Given the description of an element on the screen output the (x, y) to click on. 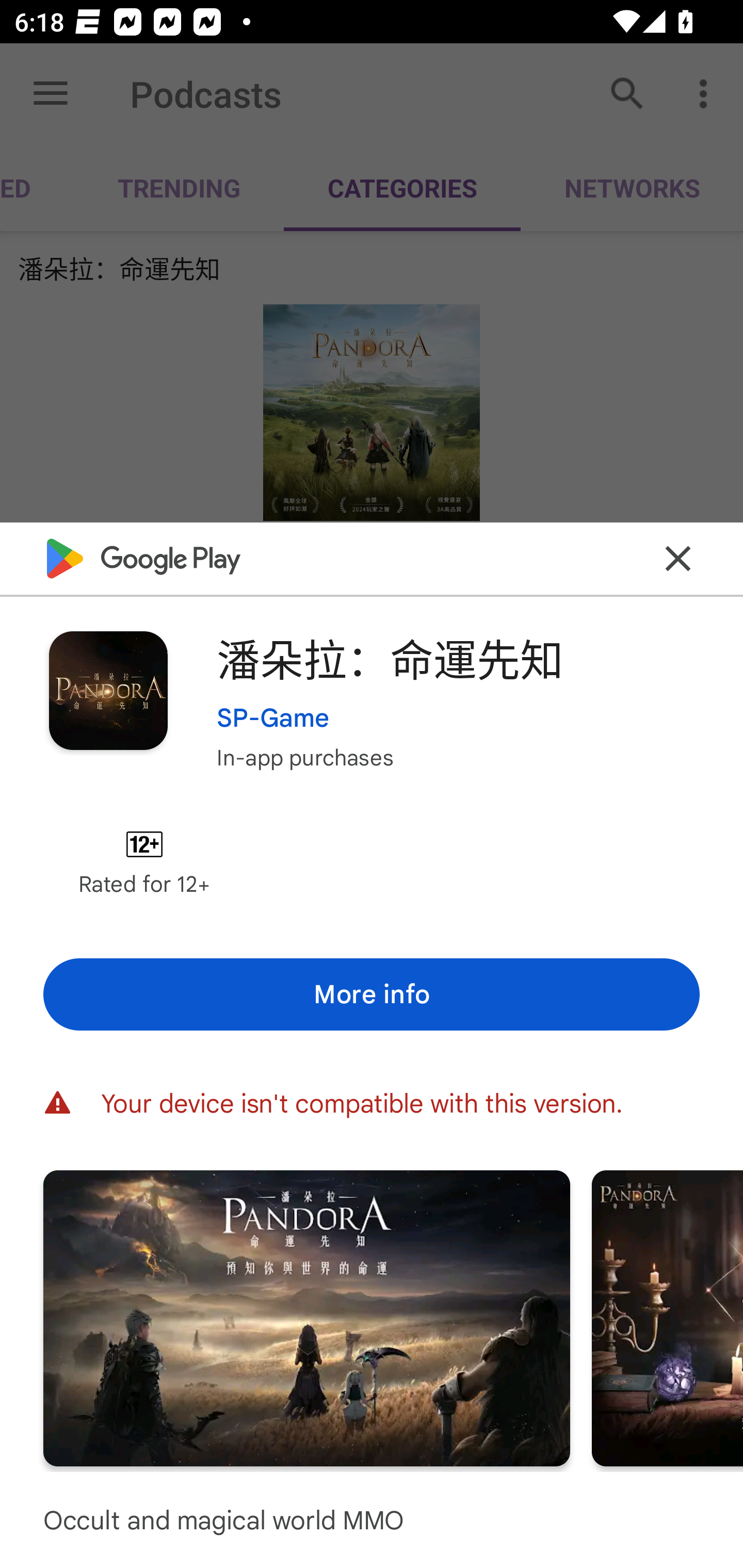
Close (677, 558)
Image of app or game icon for 潘朵拉：命運先知 (108, 690)
SP-Game (272, 716)
More info (371, 994)
Screenshot "1" of "6" (306, 1317)
Screenshot "2" of "6" (667, 1317)
